Given the description of an element on the screen output the (x, y) to click on. 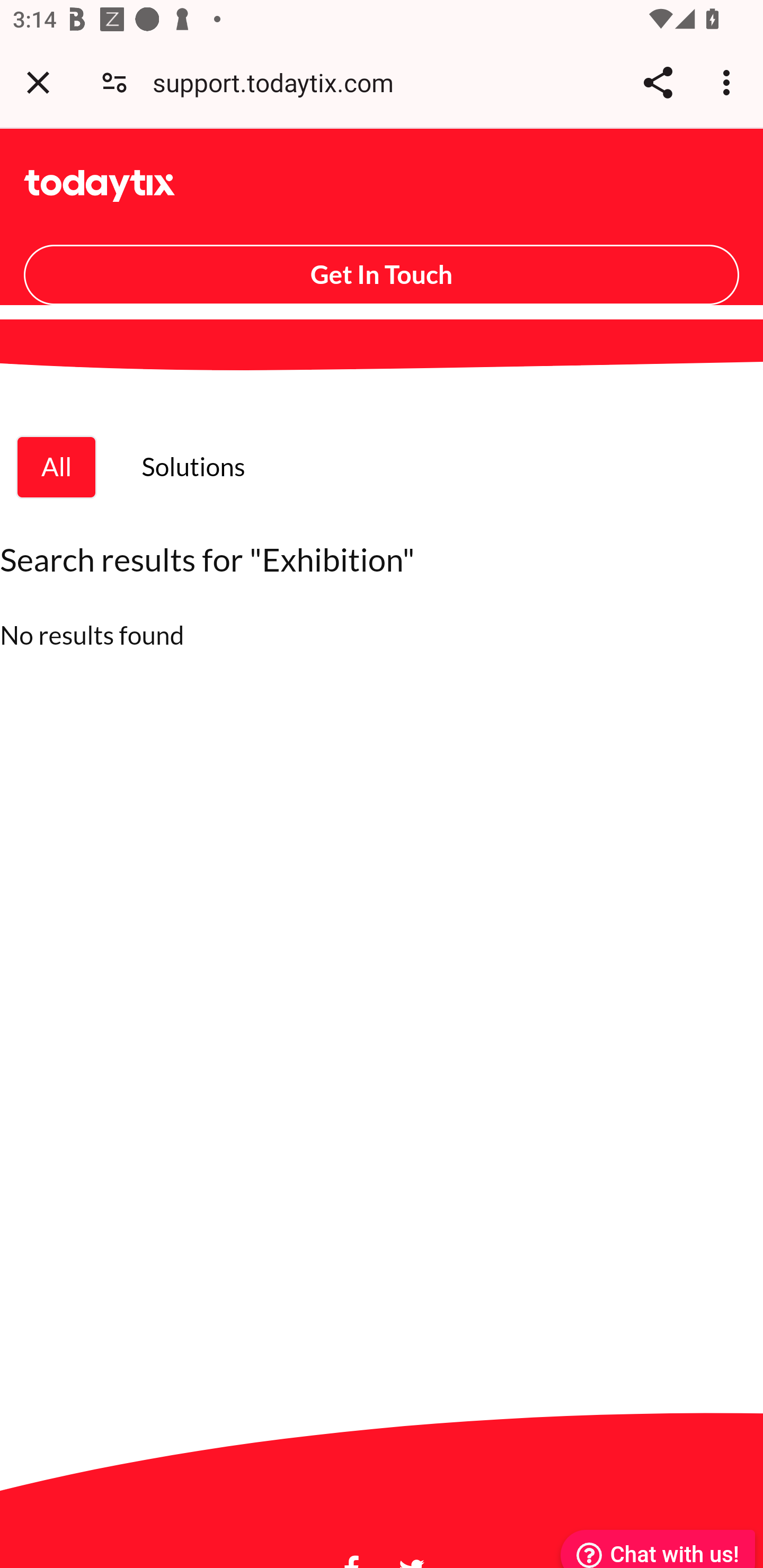
Close tab (38, 82)
Share (657, 82)
Customize and control Google Chrome (729, 82)
Connection is secure (114, 81)
support.todaytix.com (279, 81)
TodayTix White Logo (99, 185)
Get In Touch (381, 274)
All (57, 466)
Solutions (193, 466)
